Given the description of an element on the screen output the (x, y) to click on. 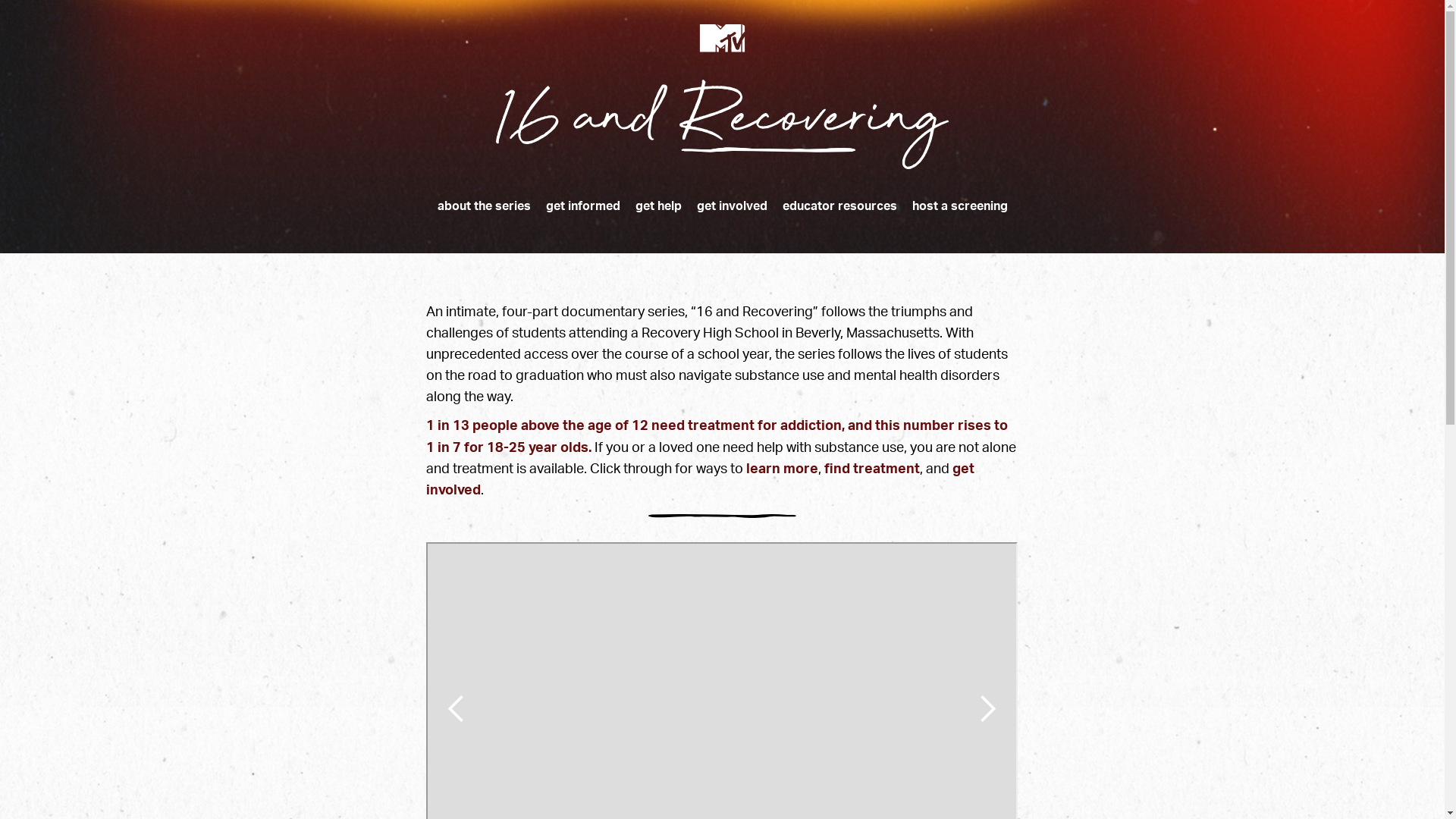
learn more Element type: text (782, 468)
host a screening Element type: text (958, 206)
get involved Element type: text (700, 479)
get help Element type: text (658, 206)
get involved Element type: text (731, 206)
get informed Element type: text (582, 206)
about the series Element type: text (483, 206)
find treatment Element type: text (871, 468)
educator resources Element type: text (839, 206)
